Given the description of an element on the screen output the (x, y) to click on. 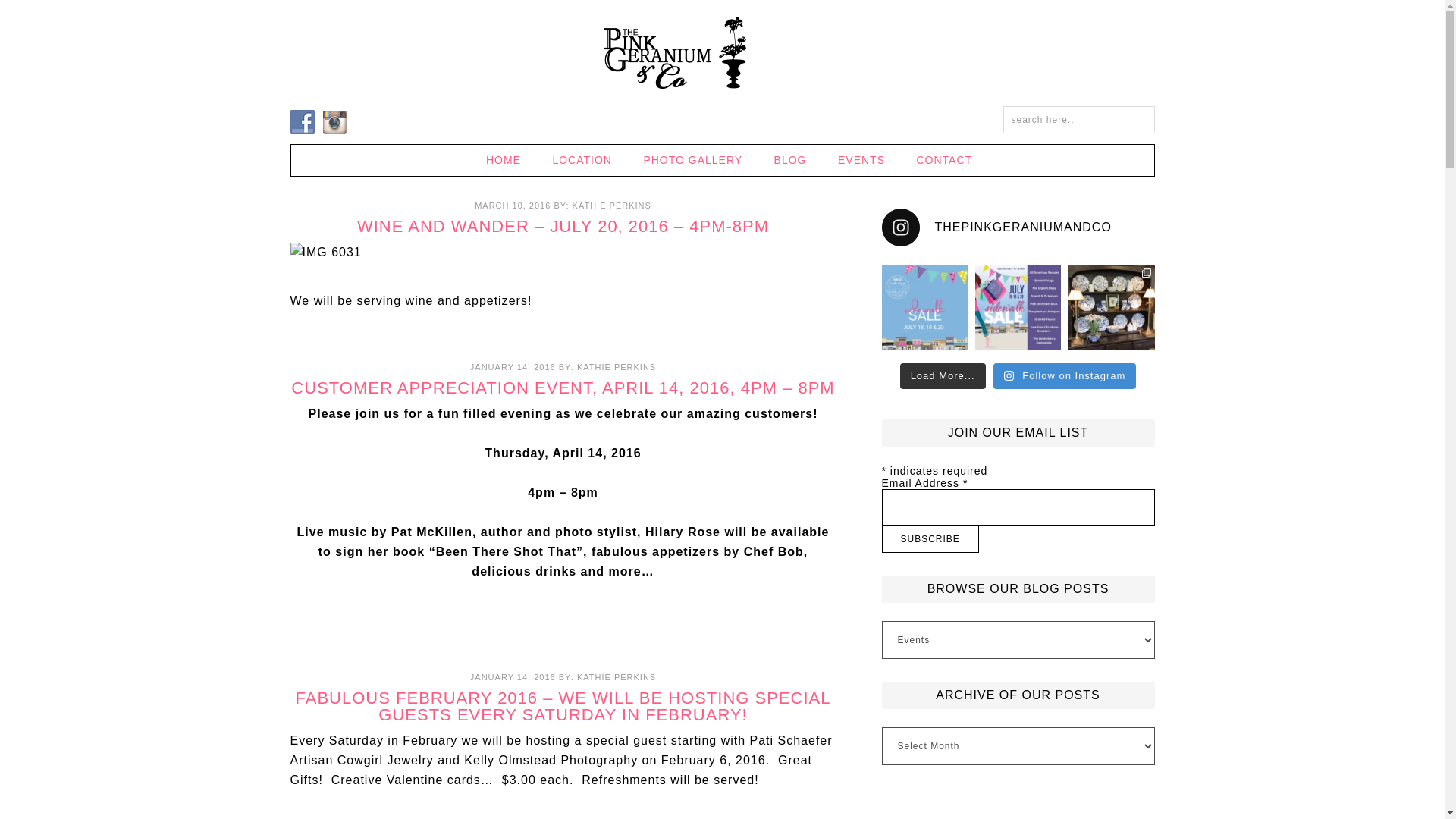
Subscribe (929, 538)
PHOTO GALLERY (691, 160)
THEPINKGERANIUMANDCO (1017, 227)
Follow on Instagram (1064, 376)
Load More... (942, 376)
IMG 6031 (325, 252)
PINK GERANIUM AND CO (721, 52)
CONTACT (937, 160)
BLOG (790, 160)
 Facebook (301, 121)
HOME (502, 160)
EVENTS (861, 160)
